Given the description of an element on the screen output the (x, y) to click on. 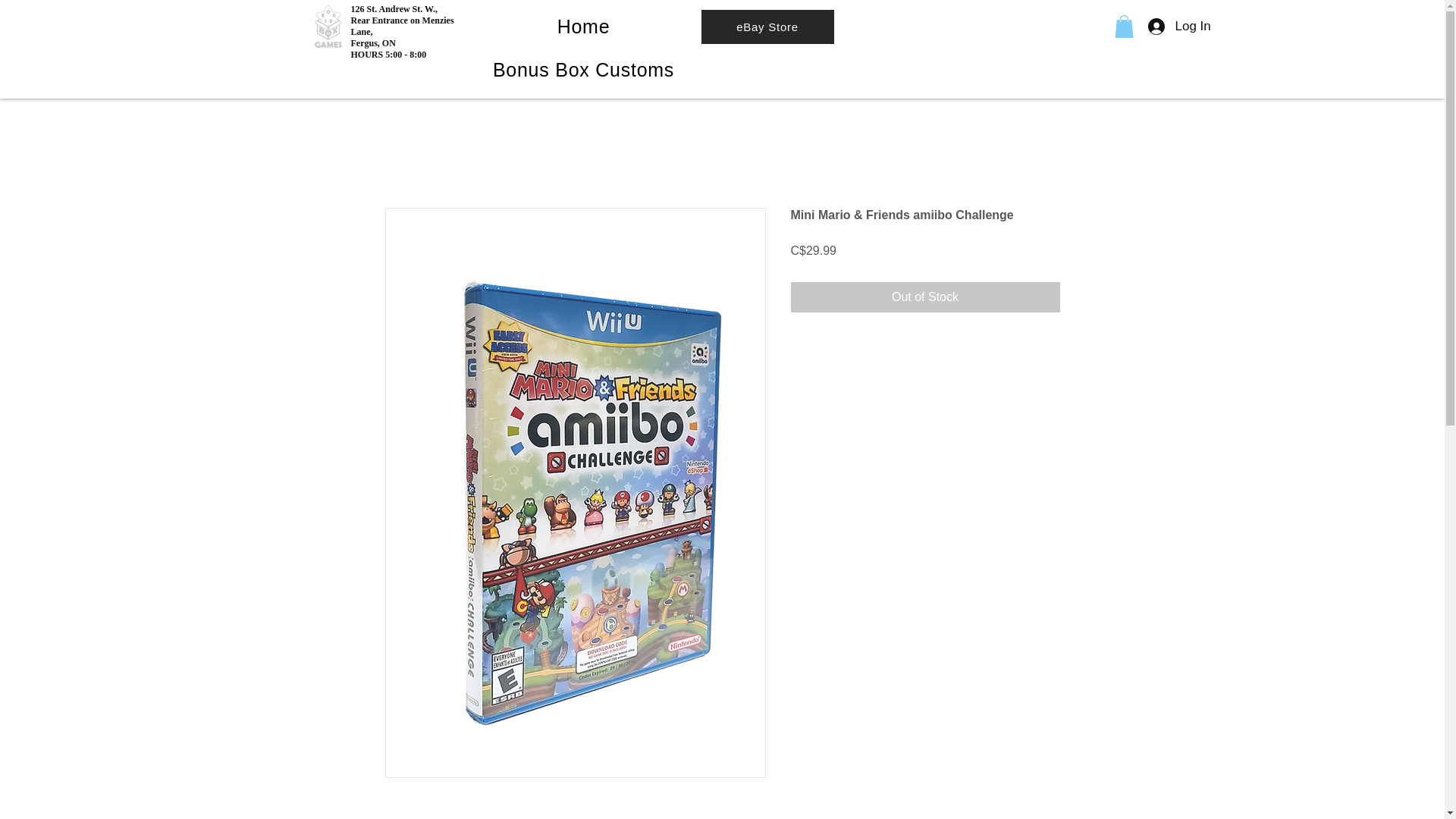
Log In (1166, 26)
Bonus Box Customs (583, 69)
eBay Store (766, 26)
Home (583, 26)
Out of Stock (924, 296)
